Given the description of an element on the screen output the (x, y) to click on. 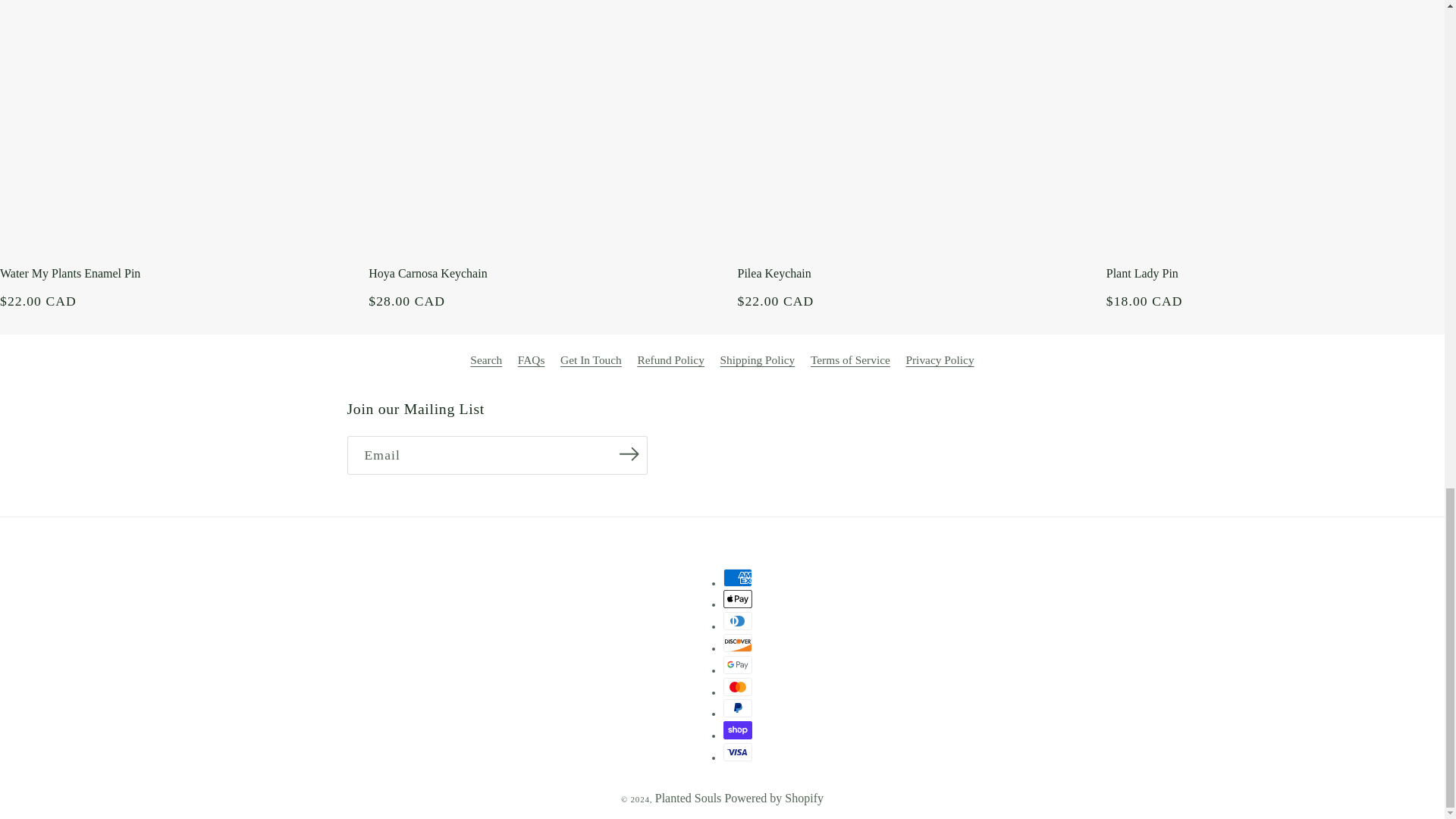
Diners Club (737, 620)
American Express (737, 577)
Apple Pay (737, 598)
Mastercard (737, 686)
Shop Pay (737, 730)
PayPal (737, 708)
Discover (737, 642)
Visa (737, 751)
Google Pay (737, 665)
